Given the description of an element on the screen output the (x, y) to click on. 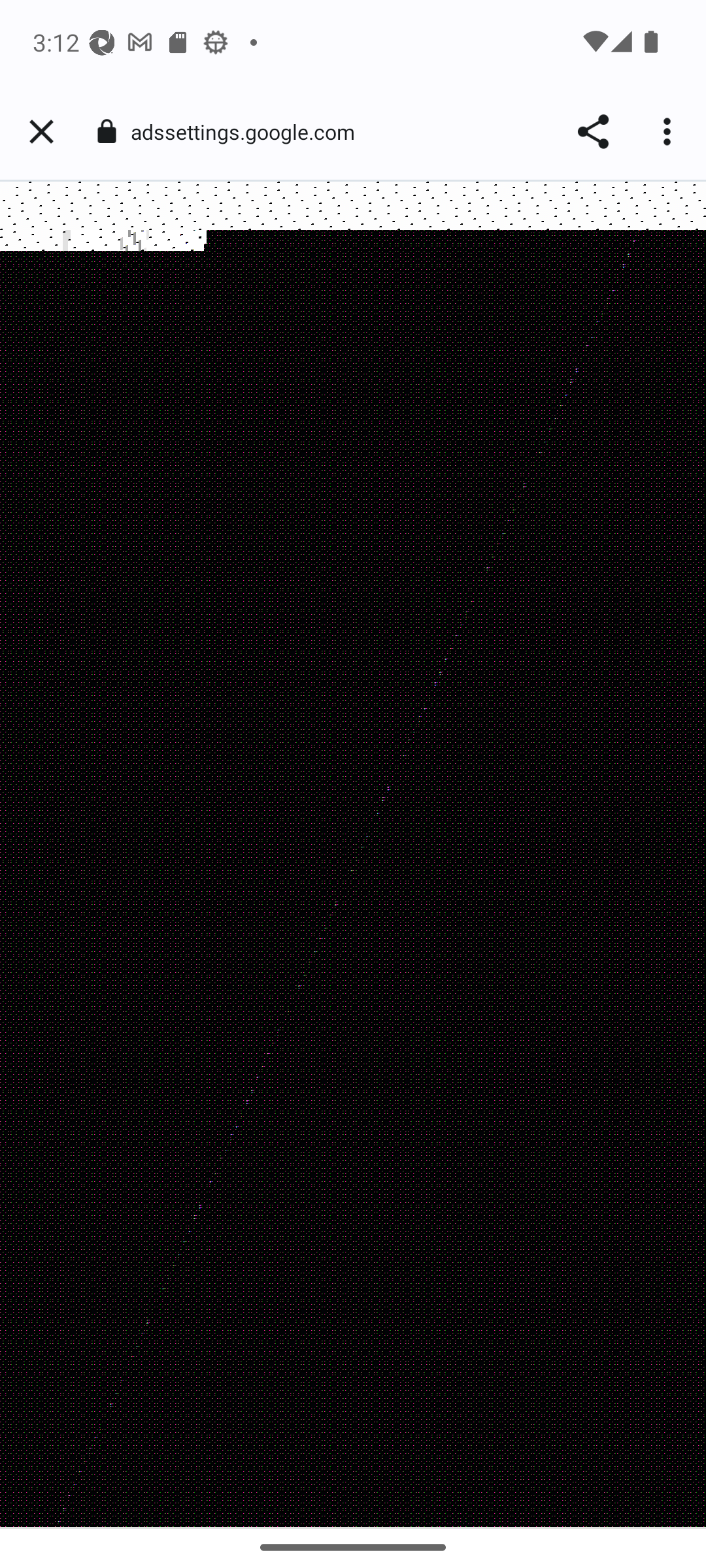
Close tab (41, 131)
Share (592, 131)
More options (669, 131)
Connection is secure (106, 131)
adssettings.google.com (249, 131)
